Given the description of an element on the screen output the (x, y) to click on. 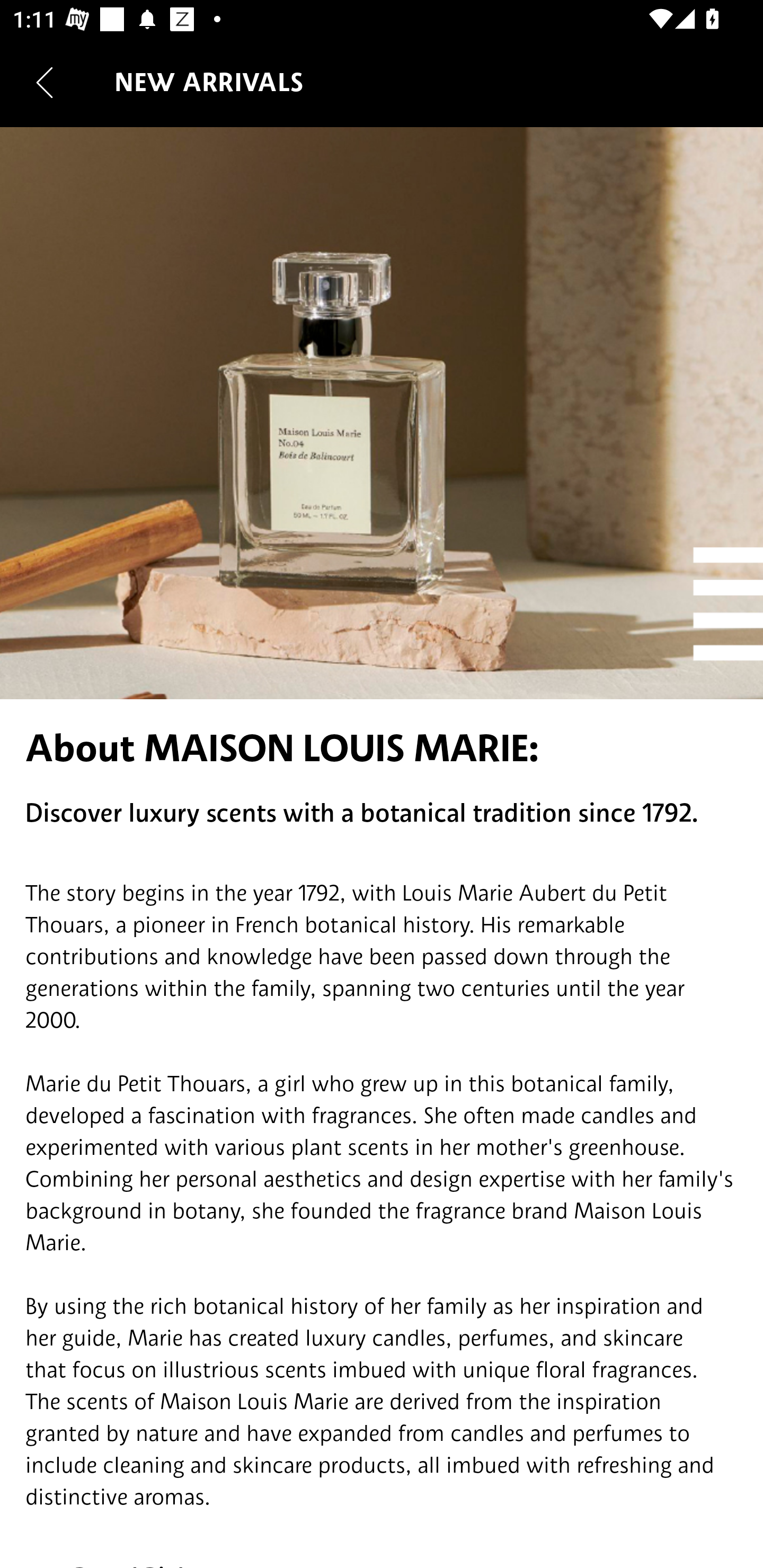
Navigate up (44, 82)
About MAISON LOUIS MARIE: (381, 747)
